Given the description of an element on the screen output the (x, y) to click on. 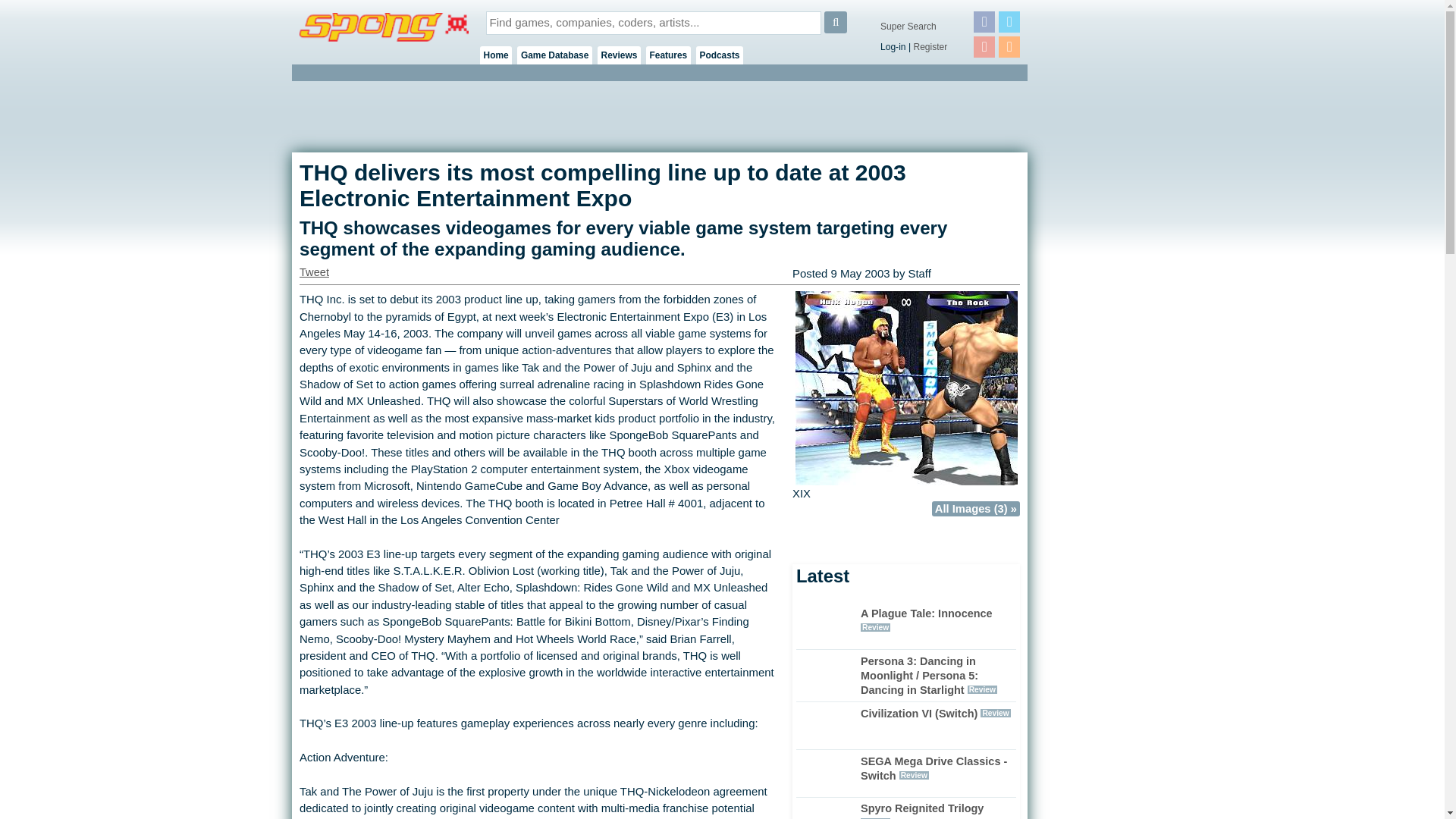
Podcasts (719, 54)
Game Database (554, 54)
Home (496, 54)
Super Search (908, 26)
Register (929, 46)
Reviews (618, 54)
Log-in (892, 46)
Features (668, 54)
